Given the description of an element on the screen output the (x, y) to click on. 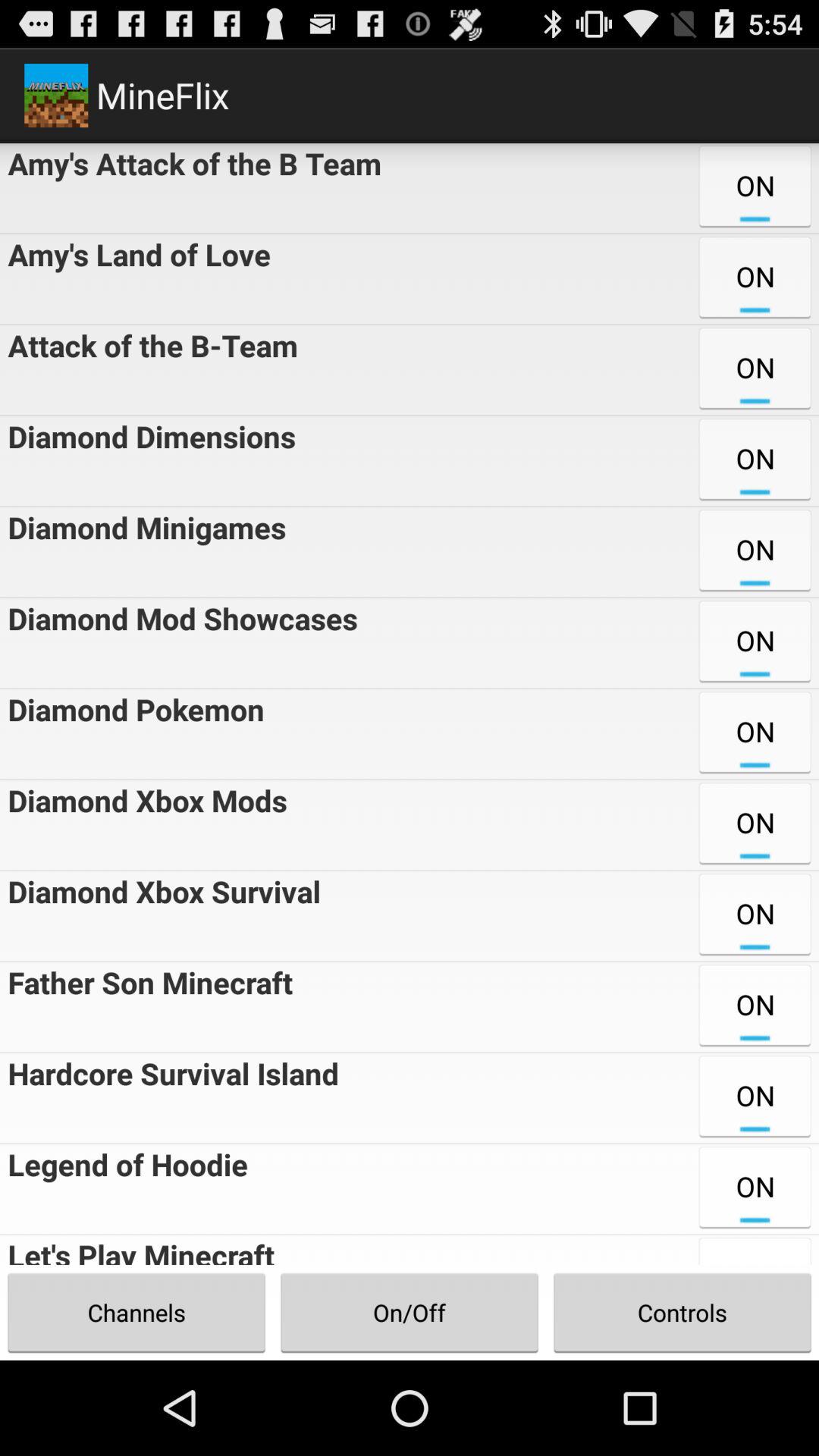
select the item below let s play app (409, 1312)
